Given the description of an element on the screen output the (x, y) to click on. 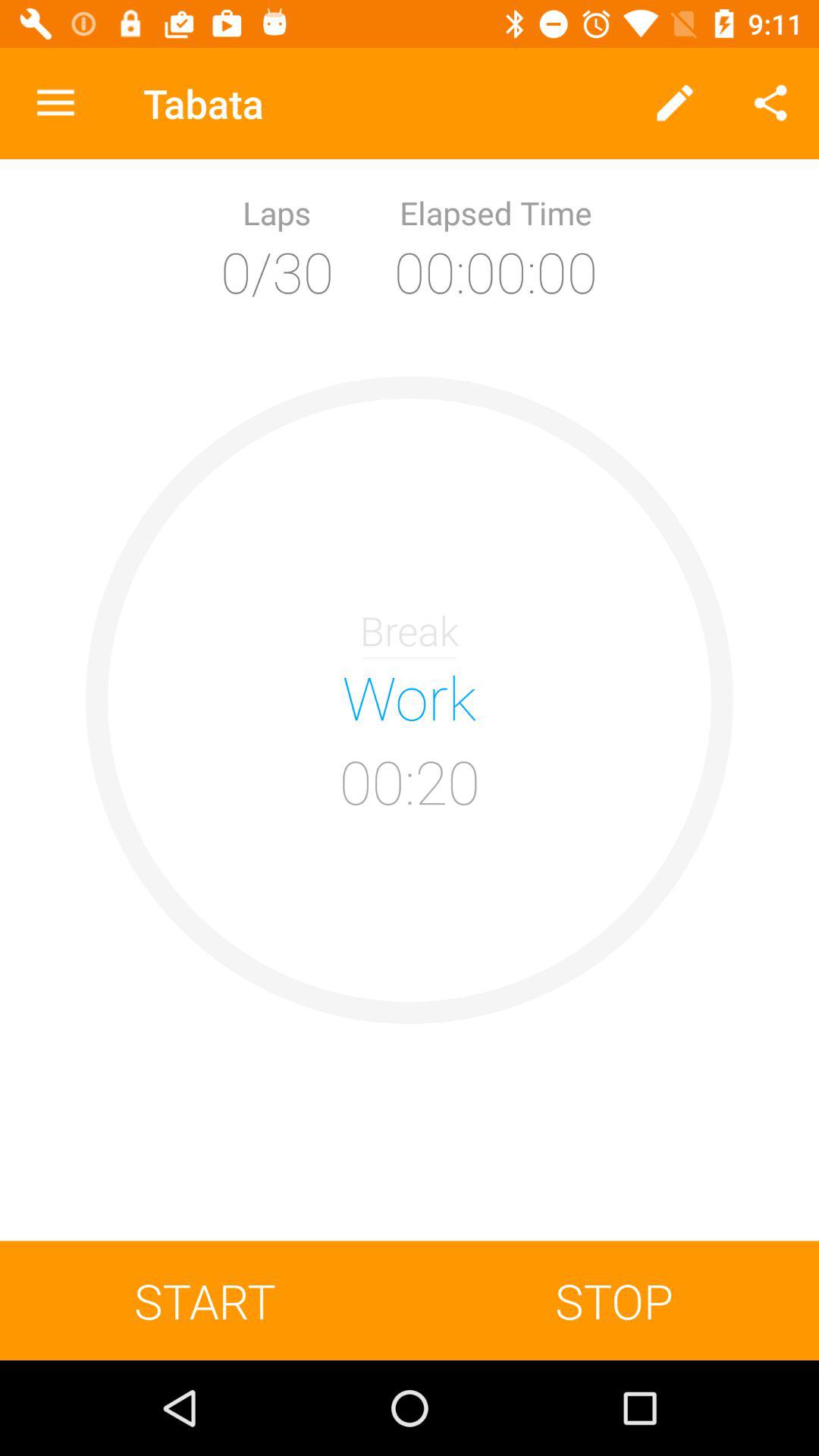
launch the icon next to the tabata icon (55, 103)
